Given the description of an element on the screen output the (x, y) to click on. 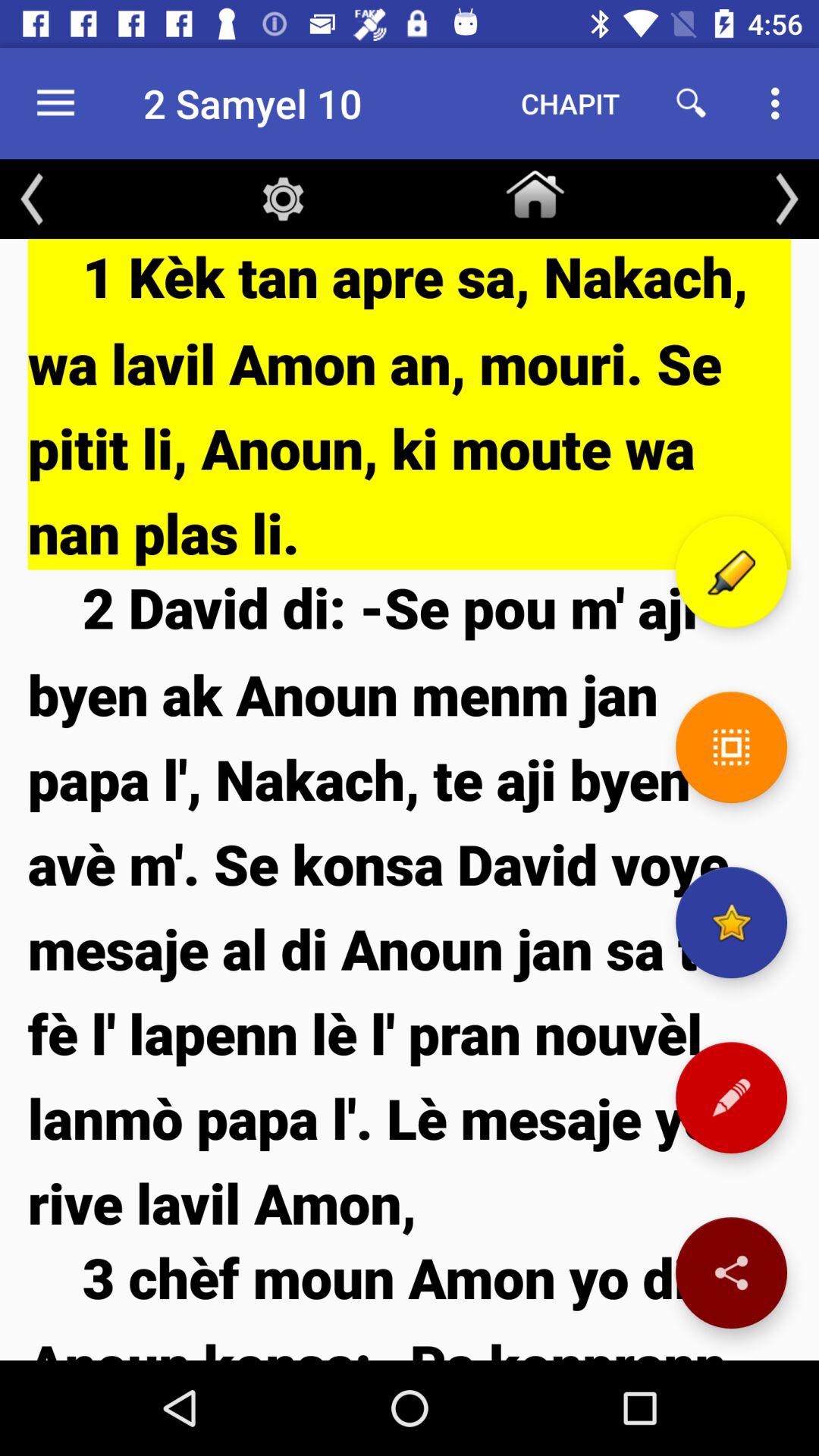
launch item next to the 2 samyel 10 item (570, 103)
